Given the description of an element on the screen output the (x, y) to click on. 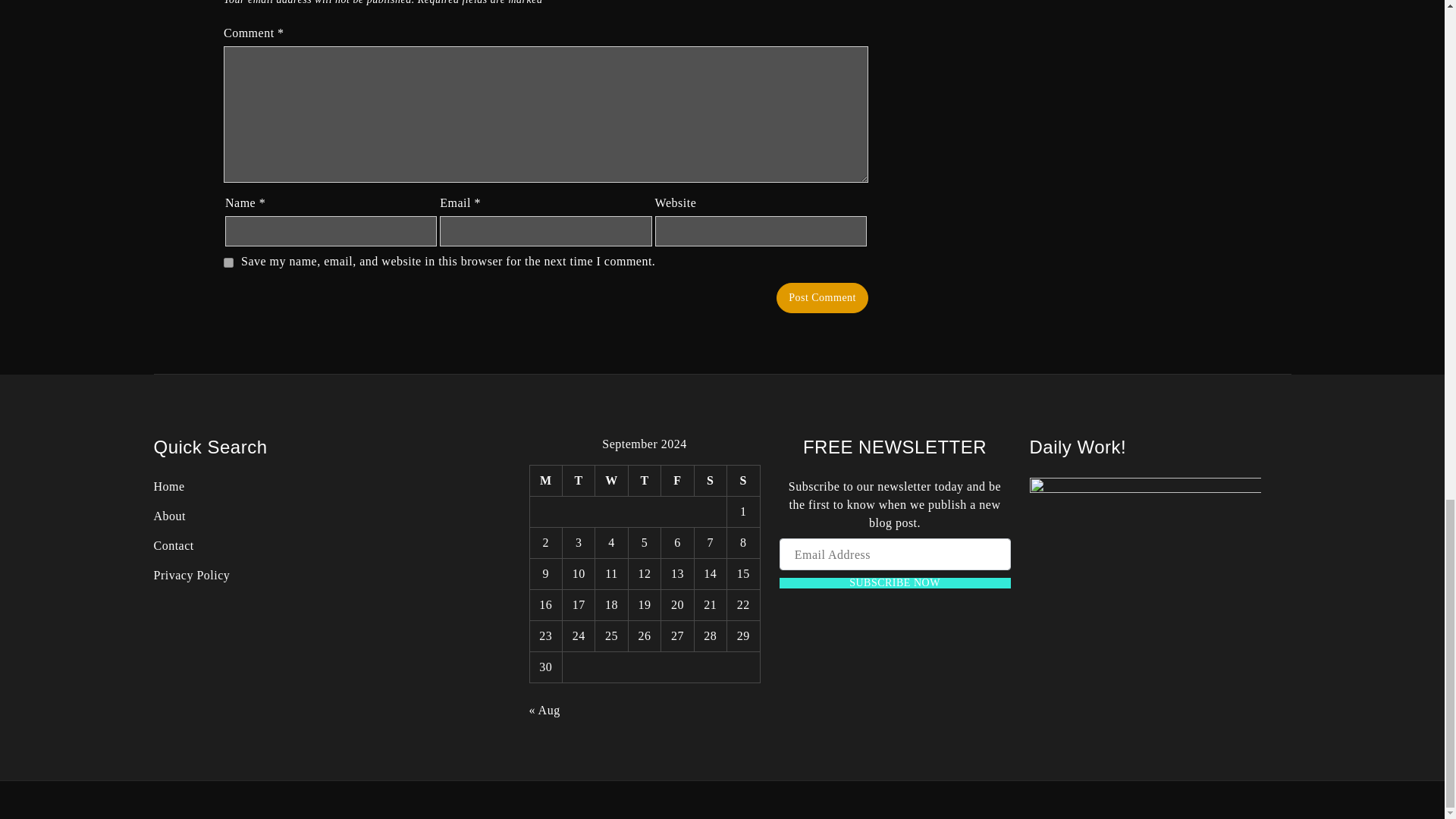
Thursday (644, 481)
Monday (545, 481)
SUBSCRIBE NOW (894, 583)
SUBSCRIBE NOW (894, 583)
Friday (677, 481)
Tuesday (578, 481)
Saturday (710, 481)
Home (168, 486)
Wednesday (611, 481)
Post Comment (821, 297)
